Given the description of an element on the screen output the (x, y) to click on. 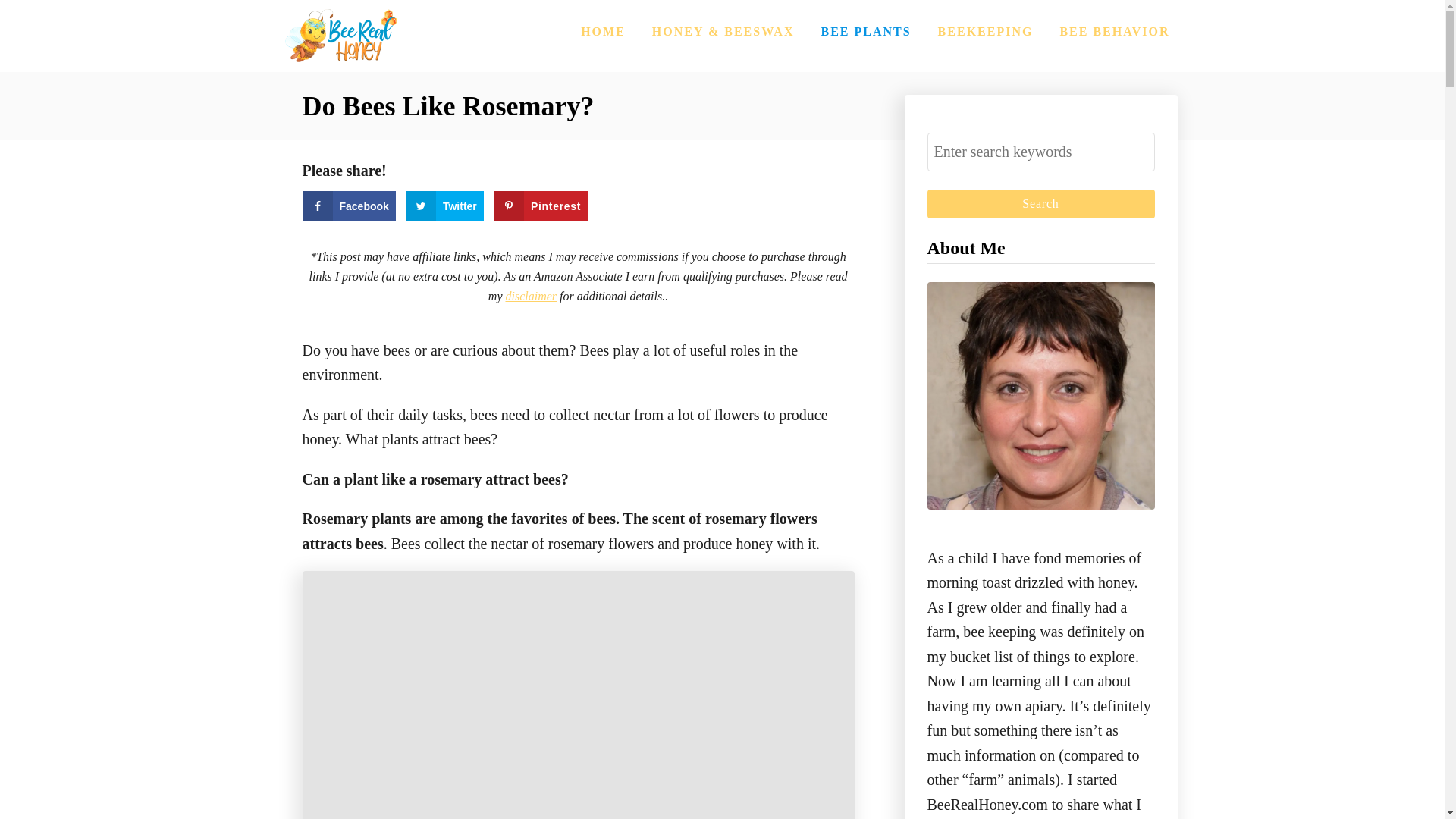
Search (1040, 203)
Facebook (347, 205)
BEE BEHAVIOR (1113, 31)
Share on Twitter (444, 205)
Pinterest (540, 205)
Save to Pinterest (540, 205)
BEEKEEPING (985, 31)
Search (1040, 203)
Share on Facebook (347, 205)
Twitter (444, 205)
disclaimer (530, 295)
BEE PLANTS (865, 31)
HOME (603, 31)
Bee Real Honey (339, 35)
